Given the description of an element on the screen output the (x, y) to click on. 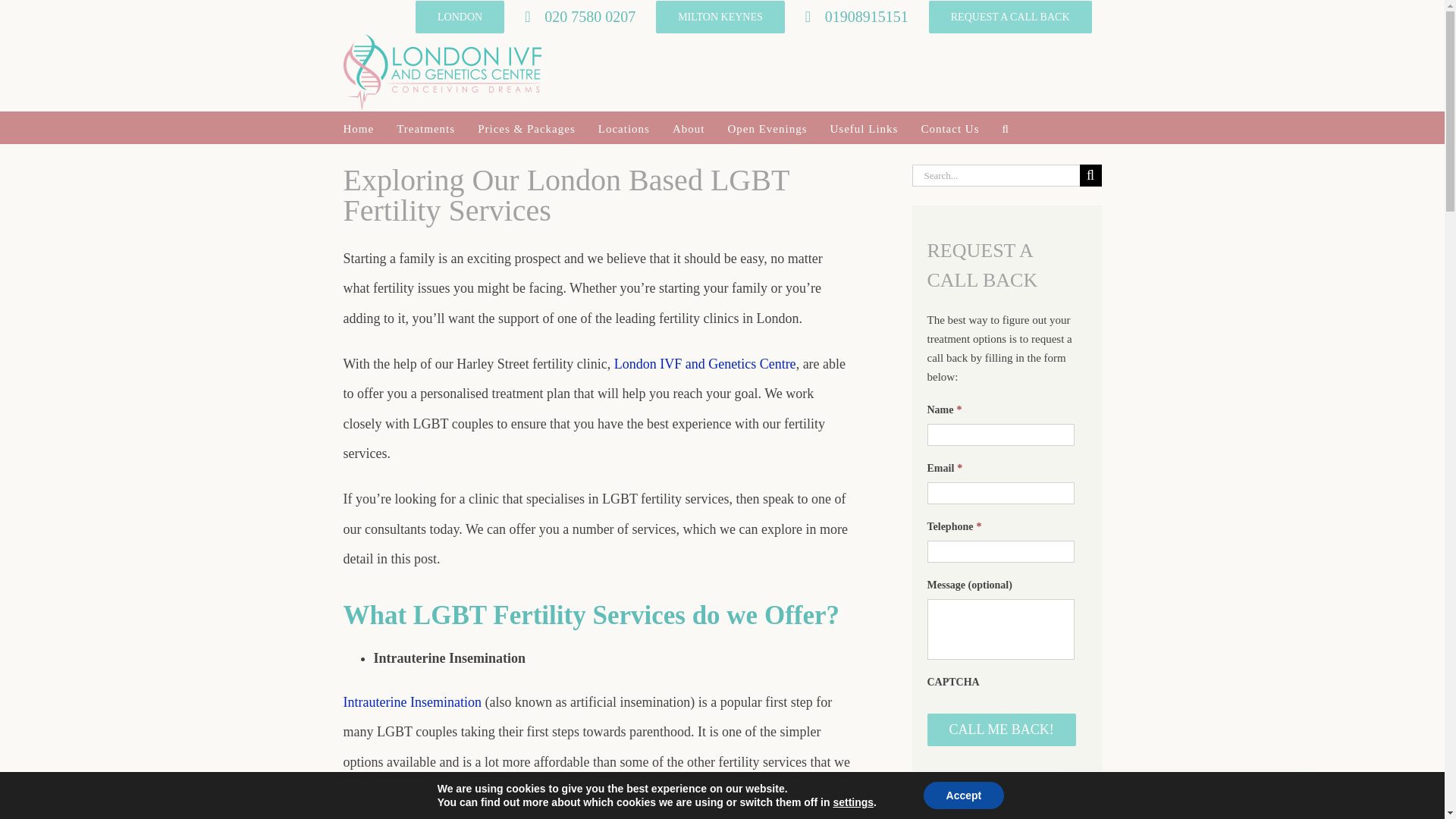
REQUEST A CALL BACK (1010, 16)
LONDON (459, 16)
Call me back! (1000, 729)
020 7580 0207 (580, 16)
MILTON KEYNES (720, 16)
01908915151 (856, 16)
Treatments (425, 127)
Home (358, 127)
